Given the description of an element on the screen output the (x, y) to click on. 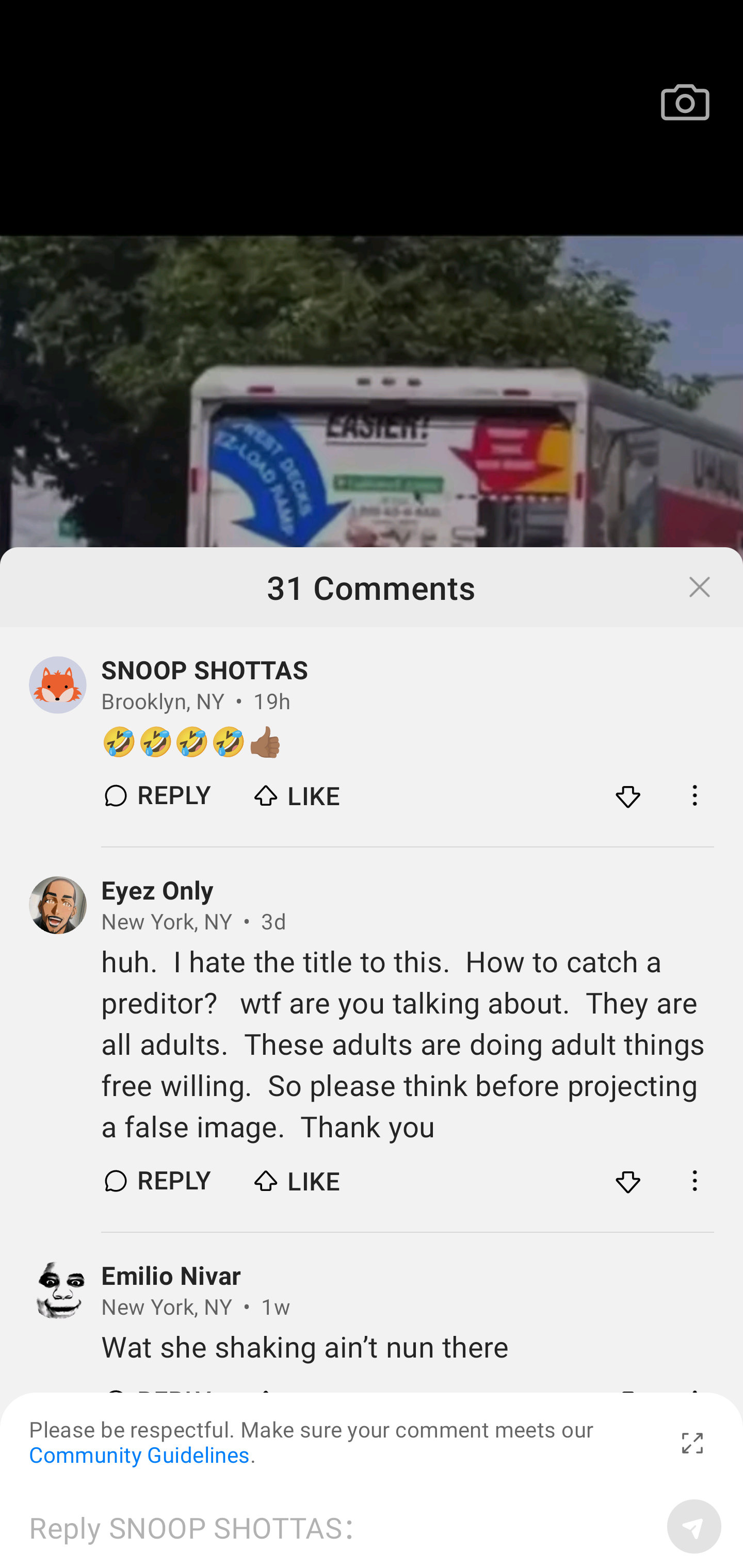
Reply SNOOP SHOTTAS： (340, 1526)
